Given the description of an element on the screen output the (x, y) to click on. 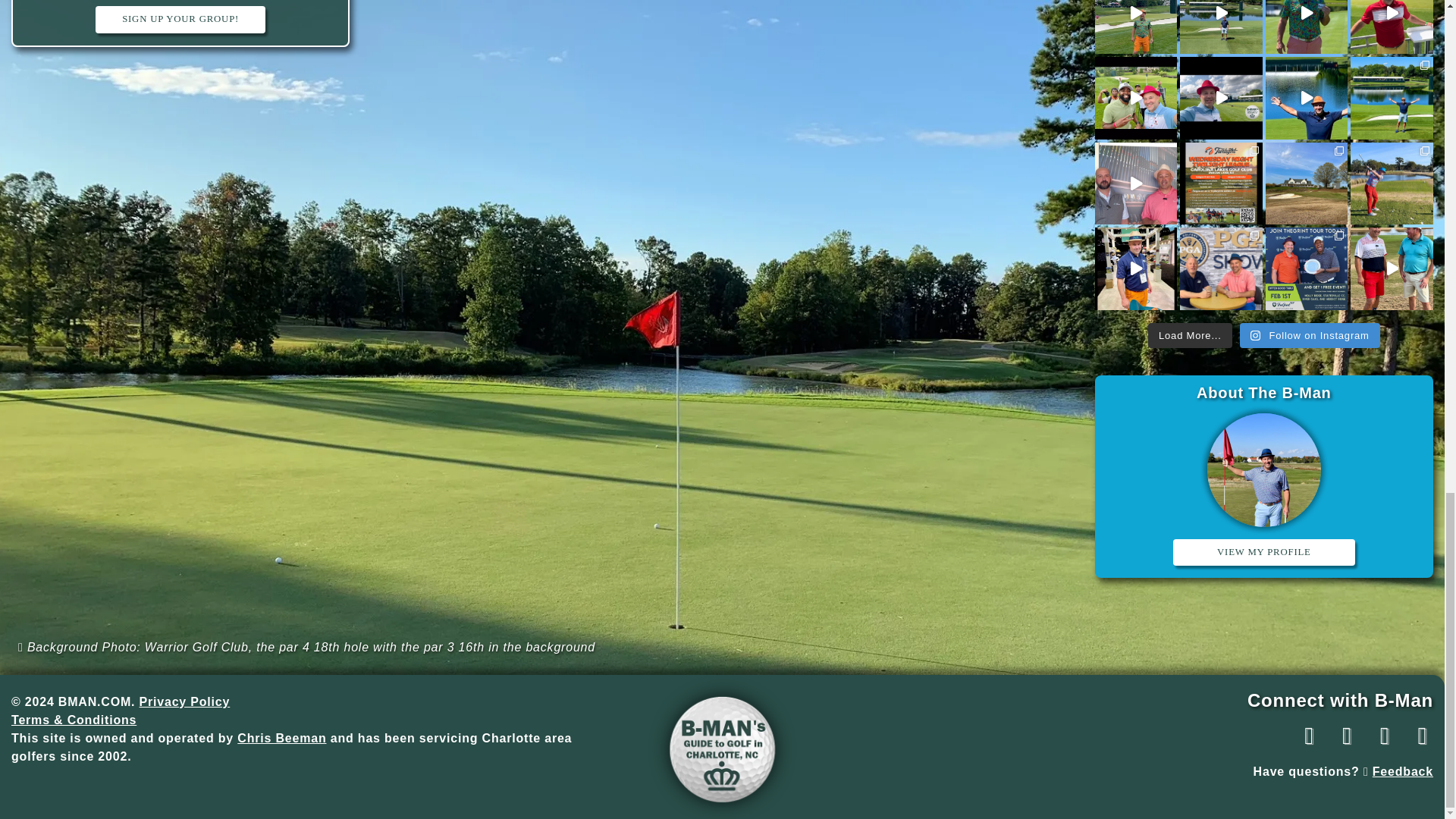
SIGN UP YOUR GROUP! (180, 18)
